Given the description of an element on the screen output the (x, y) to click on. 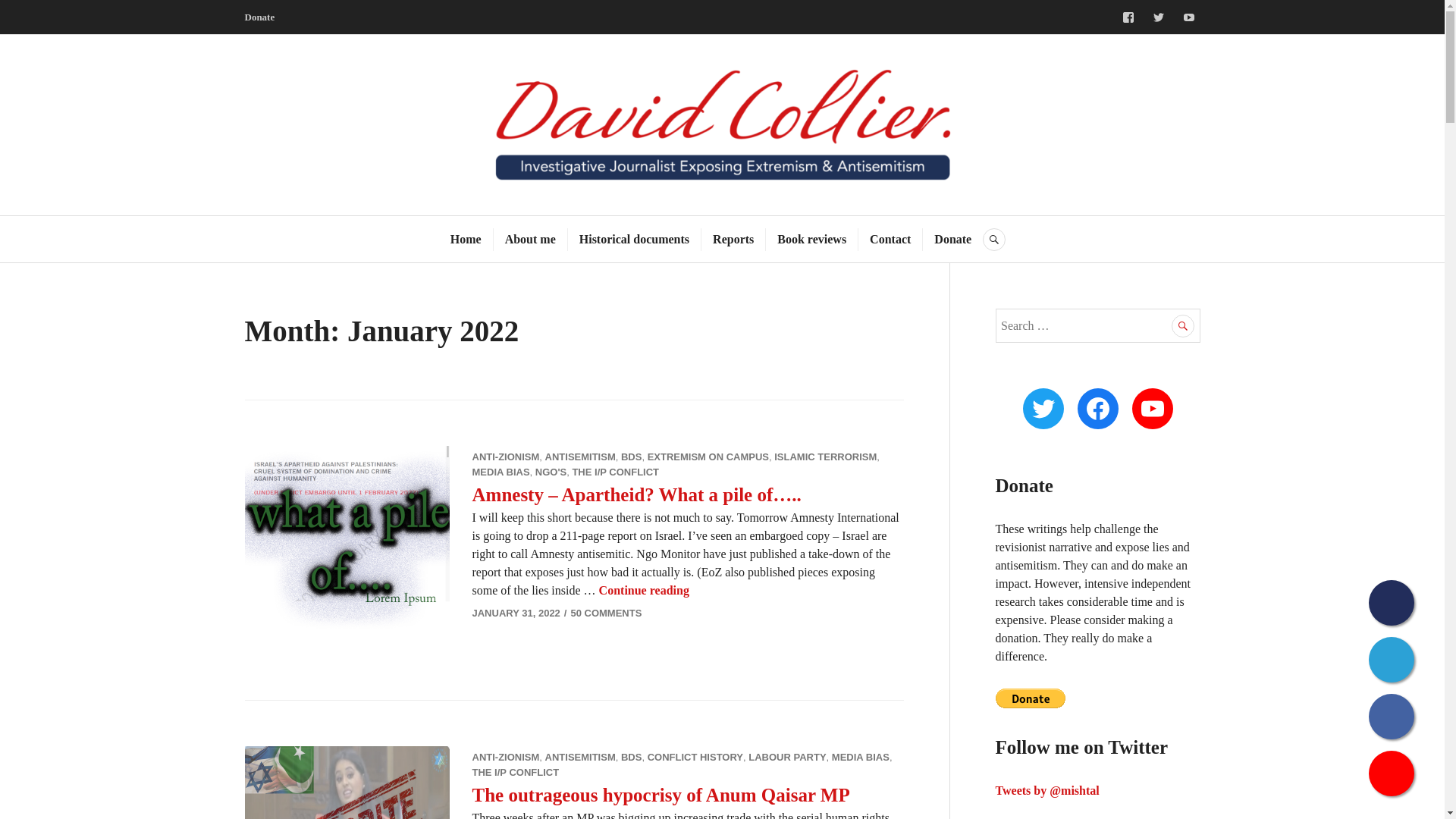
Donate (952, 239)
Historical documents (633, 239)
Home (465, 239)
ISLAMIC TERRORISM (825, 456)
EXTREMISM ON CAMPUS (707, 456)
Book reviews (811, 239)
Twitter Account (1158, 16)
Search (1182, 325)
50 COMMENTS (606, 613)
Donate (259, 16)
About me (530, 239)
ANTISEMITISM (579, 456)
CONFLICT HISTORY (694, 756)
BDS (631, 456)
MEDIA BIAS (500, 471)
